Given the description of an element on the screen output the (x, y) to click on. 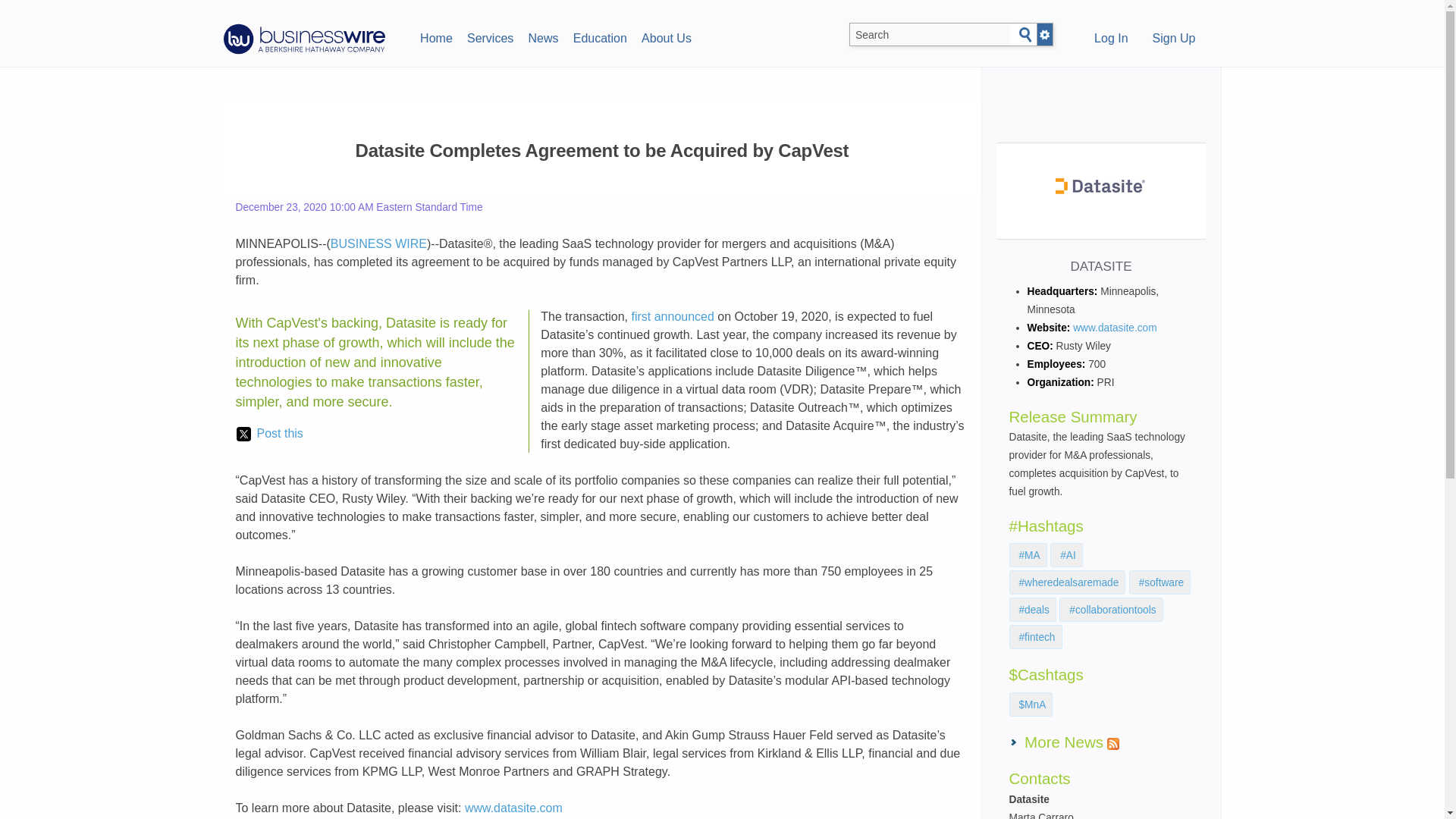
Home (436, 36)
News (543, 36)
www.datasite.com (1114, 327)
Search (1025, 34)
Services (490, 36)
RSS feed for null (1112, 743)
Post this (269, 433)
Education (599, 36)
BUSINESS WIRE (378, 243)
www.datasite.com (513, 807)
first announced (671, 316)
Search BusinessWire.com (930, 34)
